Given the description of an element on the screen output the (x, y) to click on. 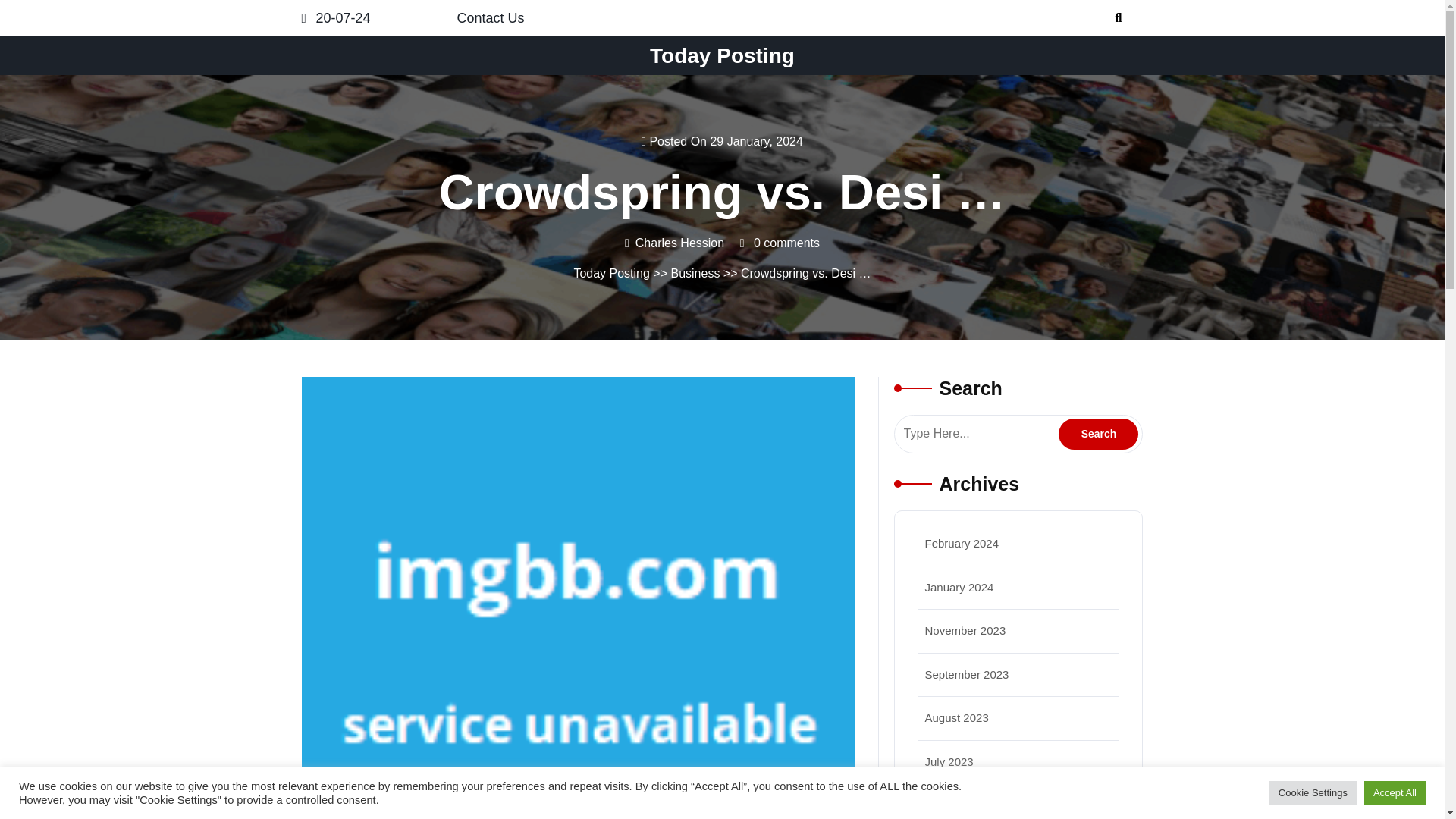
September 2023 (966, 673)
January 2024 (959, 586)
Contact Us (490, 18)
August 2023 (956, 717)
Today Posting (721, 55)
Search (1098, 433)
Search (1098, 433)
Today Posting (611, 273)
June 2023 (951, 804)
Search (1098, 433)
July 2023 (949, 761)
November 2023 (965, 630)
Today Posting (721, 55)
Business (694, 273)
February 2024 (961, 543)
